Given the description of an element on the screen output the (x, y) to click on. 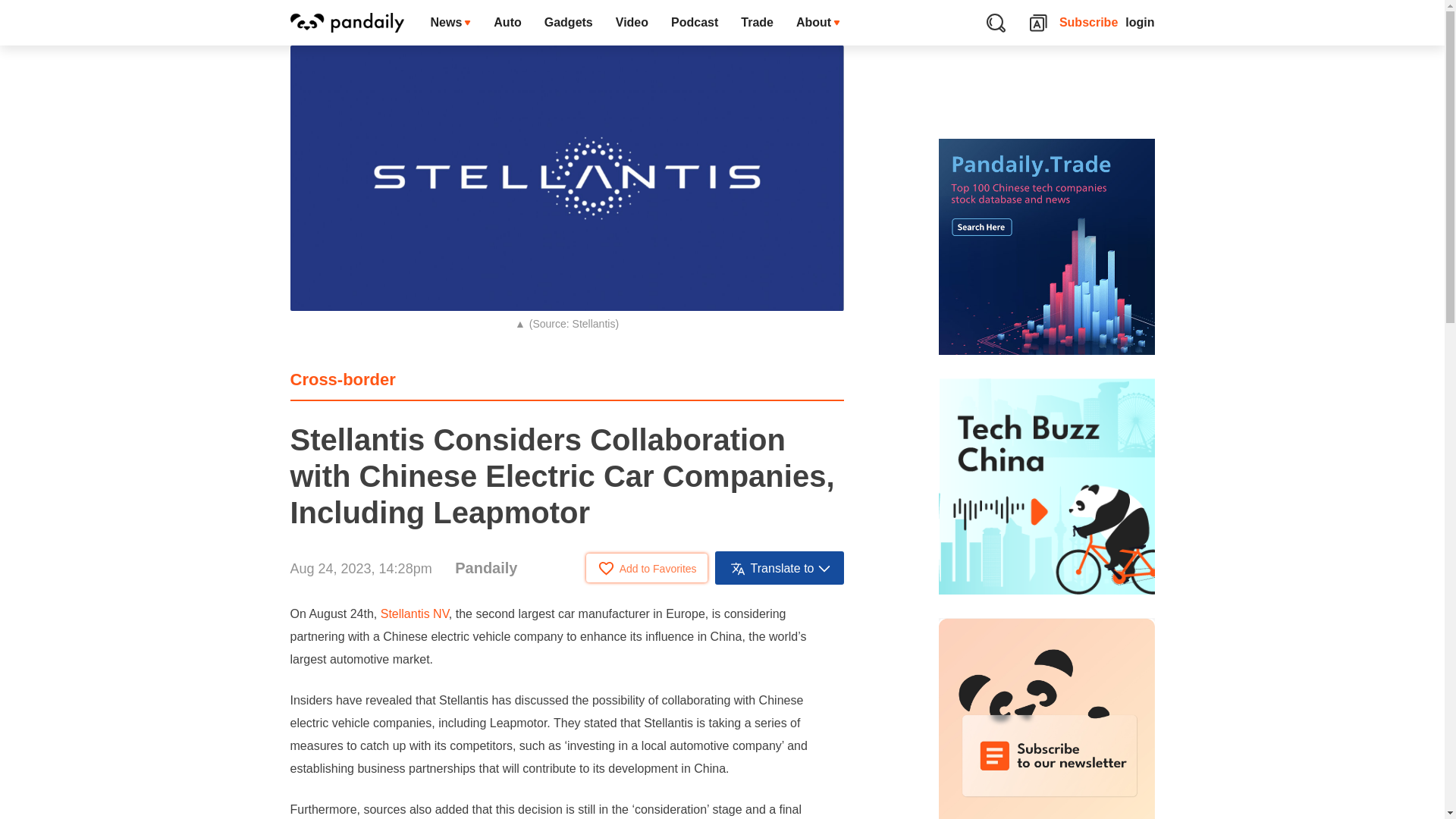
About (817, 22)
News (450, 22)
Trade (756, 22)
Video (631, 22)
Gadgets (568, 22)
Translate to (779, 567)
login (1139, 22)
Auto (506, 22)
Podcast (694, 22)
Aug 24, 2023, 14:28pm (359, 568)
Cross-border (341, 379)
Pandaily (485, 567)
Subscribe (1088, 22)
Add to Favorites (646, 567)
